Given the description of an element on the screen output the (x, y) to click on. 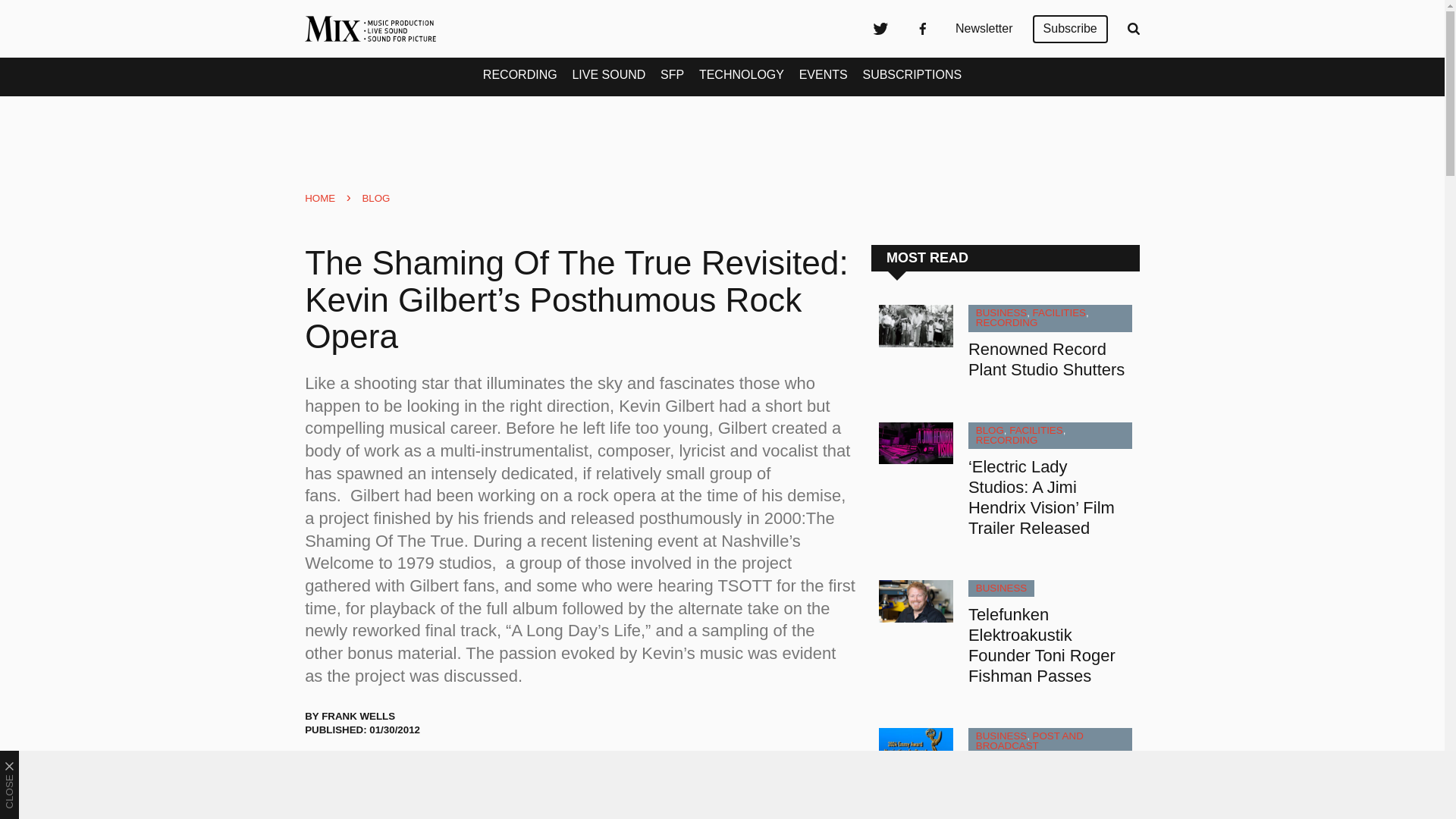
Share via Email (438, 771)
Share on Twitter (323, 771)
Share on Facebook (361, 771)
Share on LinkedIn (399, 771)
